Given the description of an element on the screen output the (x, y) to click on. 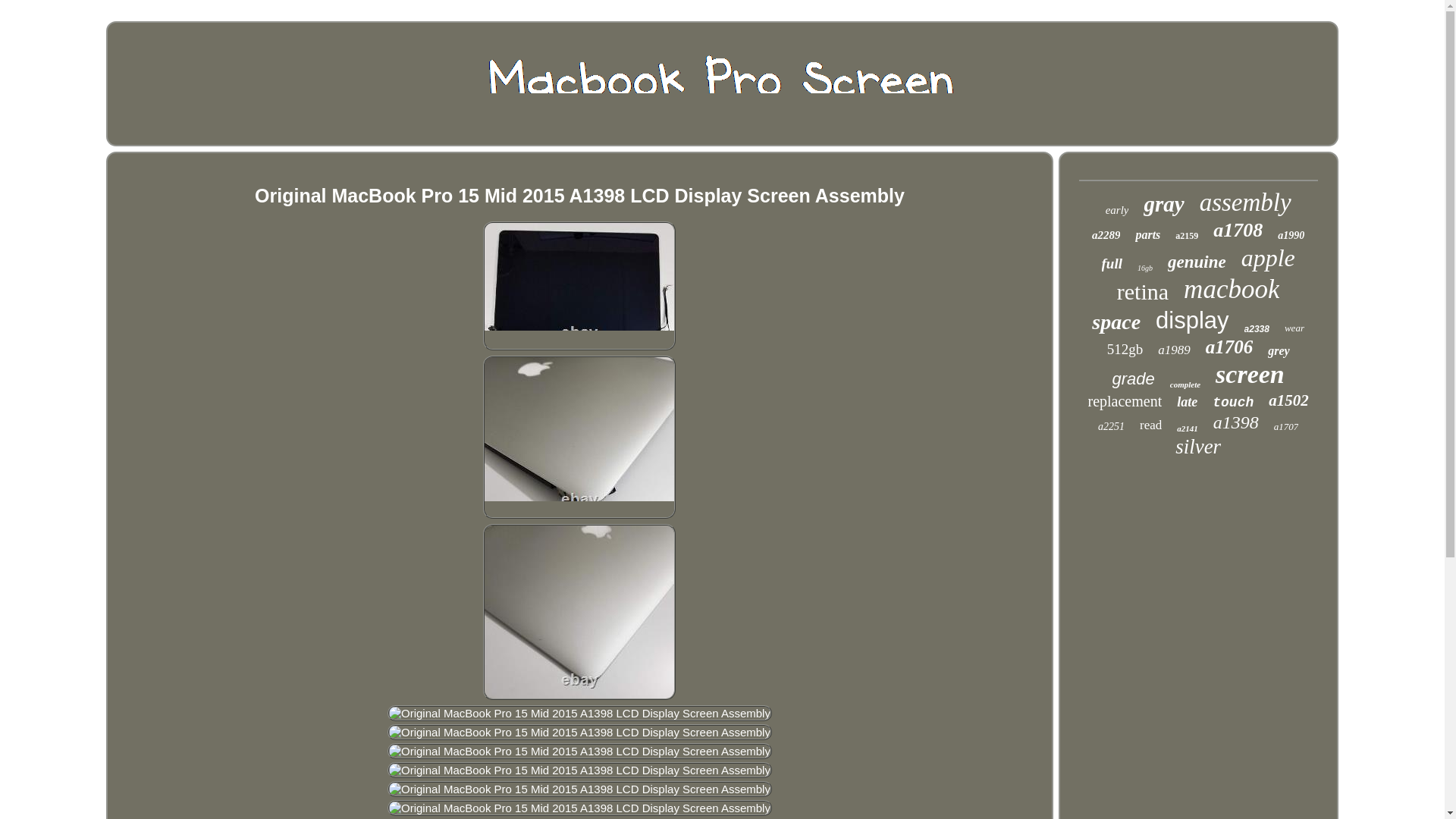
a2159 (1186, 235)
space (1116, 322)
512gb (1124, 349)
macbook (1231, 289)
a1708 (1237, 230)
complete (1184, 384)
